Given the description of an element on the screen output the (x, y) to click on. 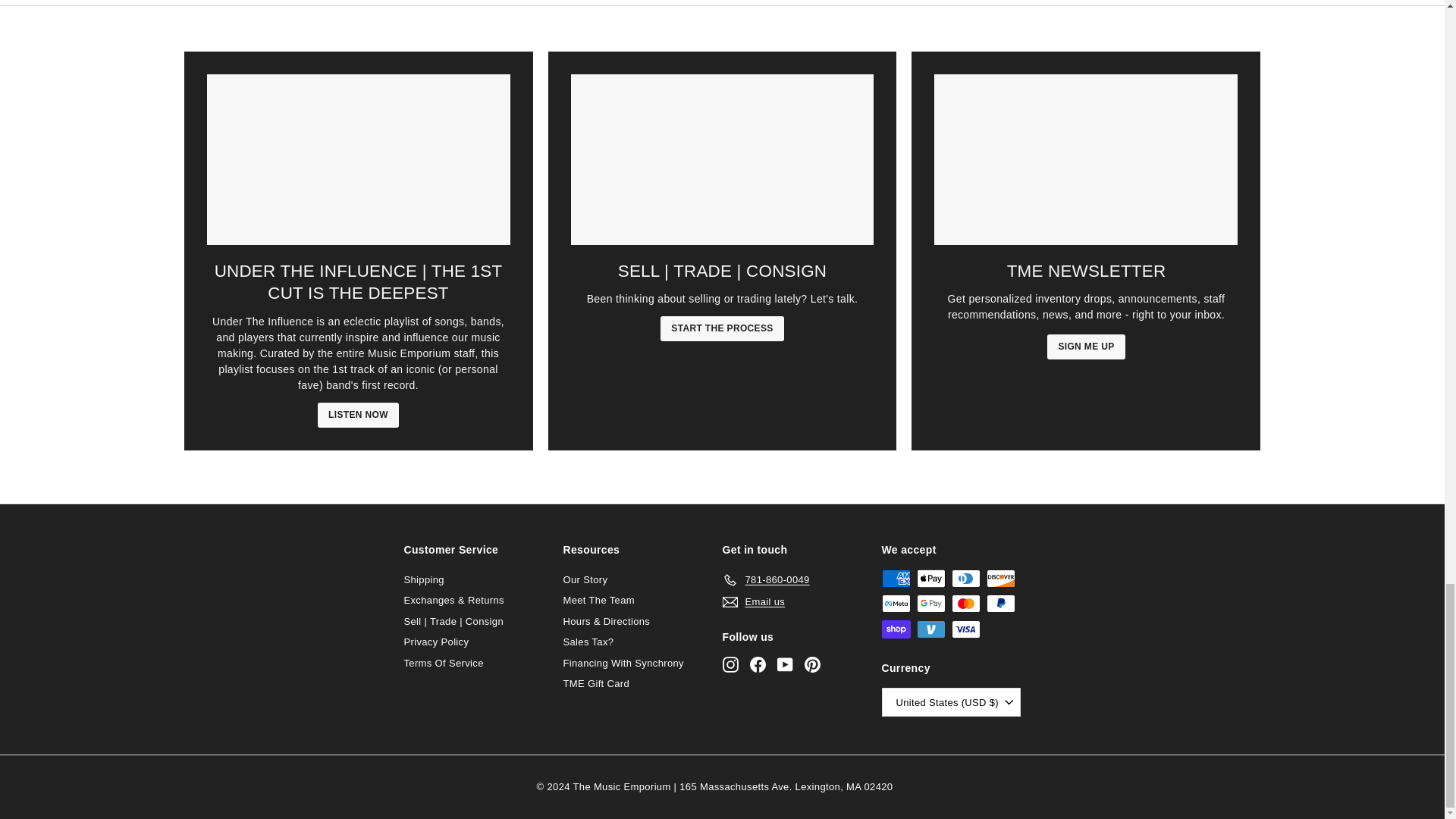
PayPal (999, 603)
The Music Emporium on YouTube (784, 664)
American Express (895, 578)
Google Pay (929, 603)
Diners Club (964, 578)
The Music Emporium on Instagram (730, 664)
The Music Emporium on Pinterest (811, 664)
Discover (999, 578)
Mastercard (964, 603)
Shop Pay (895, 628)
